Given the description of an element on the screen output the (x, y) to click on. 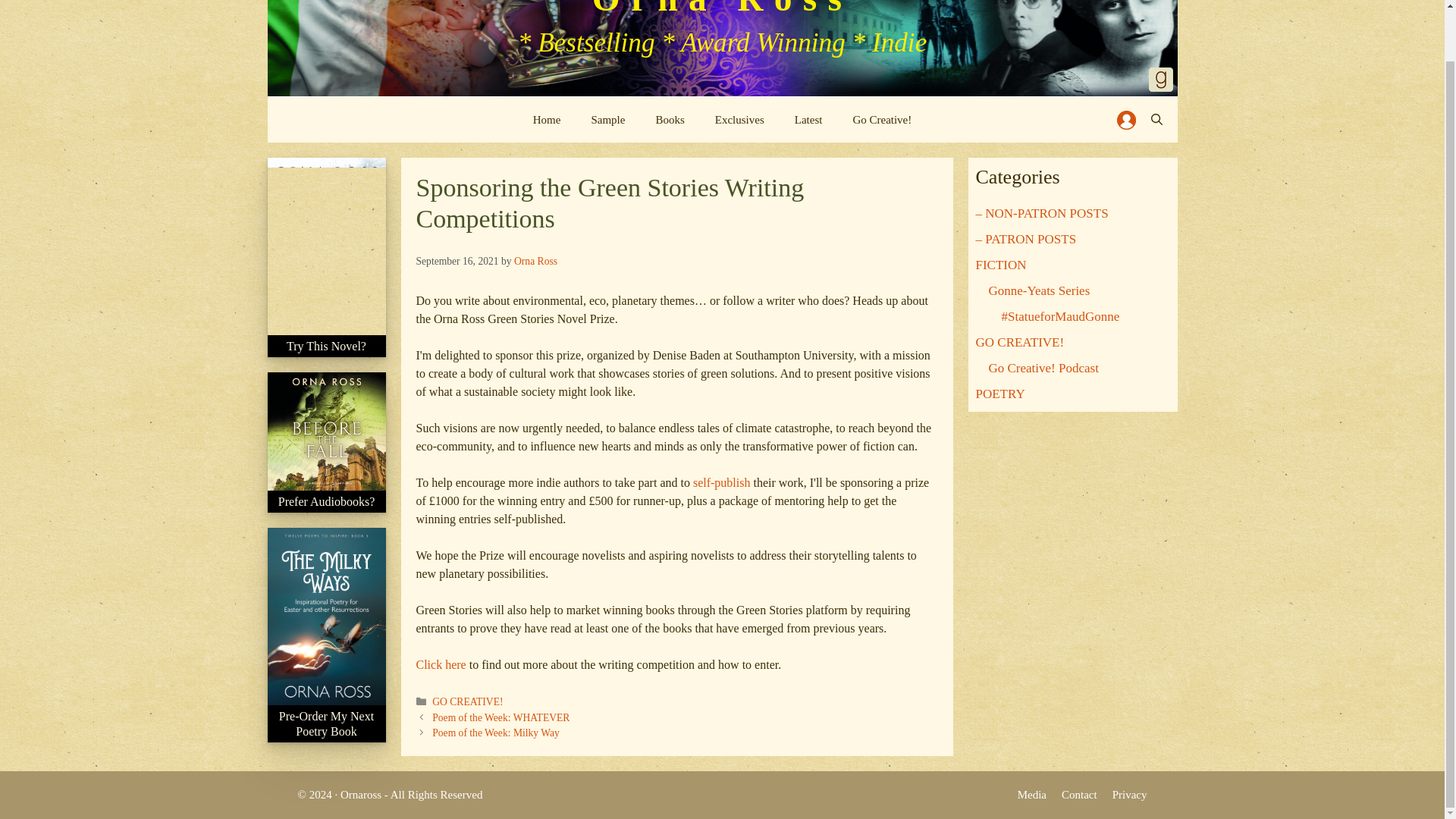
Try This Novel? (325, 354)
Poem of the Week: Milky Way (495, 732)
self-publish (722, 481)
FICTION (1000, 264)
Contact (1079, 794)
Prefer Audiobooks? (325, 509)
Home (547, 119)
Poem of the Week: WHATEVER (500, 717)
GO CREATIVE! (467, 701)
GO CREATIVE! (1019, 341)
